Given the description of an element on the screen output the (x, y) to click on. 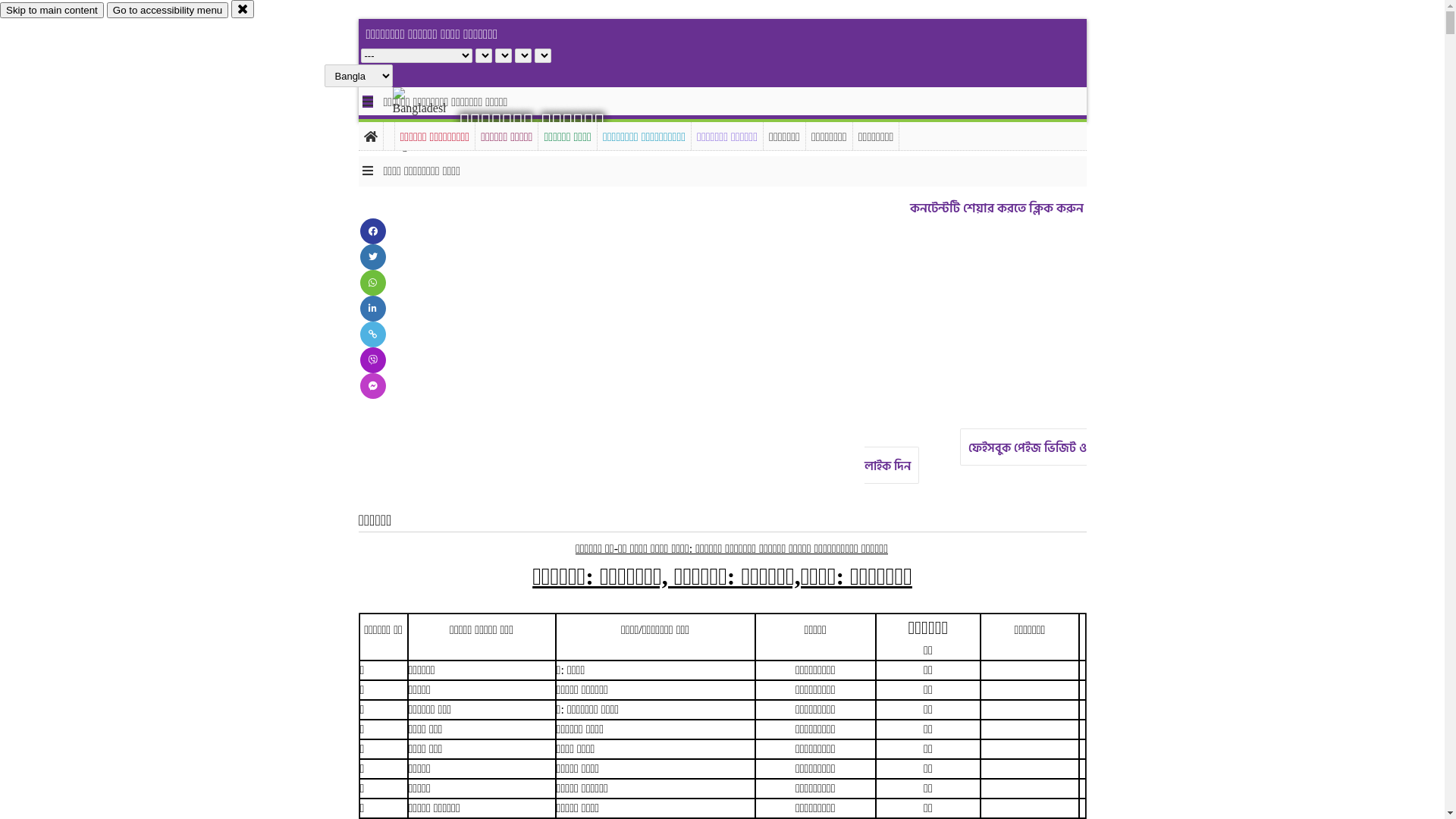
Go to accessibility menu Element type: text (167, 10)

                
             Element type: hover (431, 120)
close Element type: hover (242, 9)
Skip to main content Element type: text (51, 10)
